Given the description of an element on the screen output the (x, y) to click on. 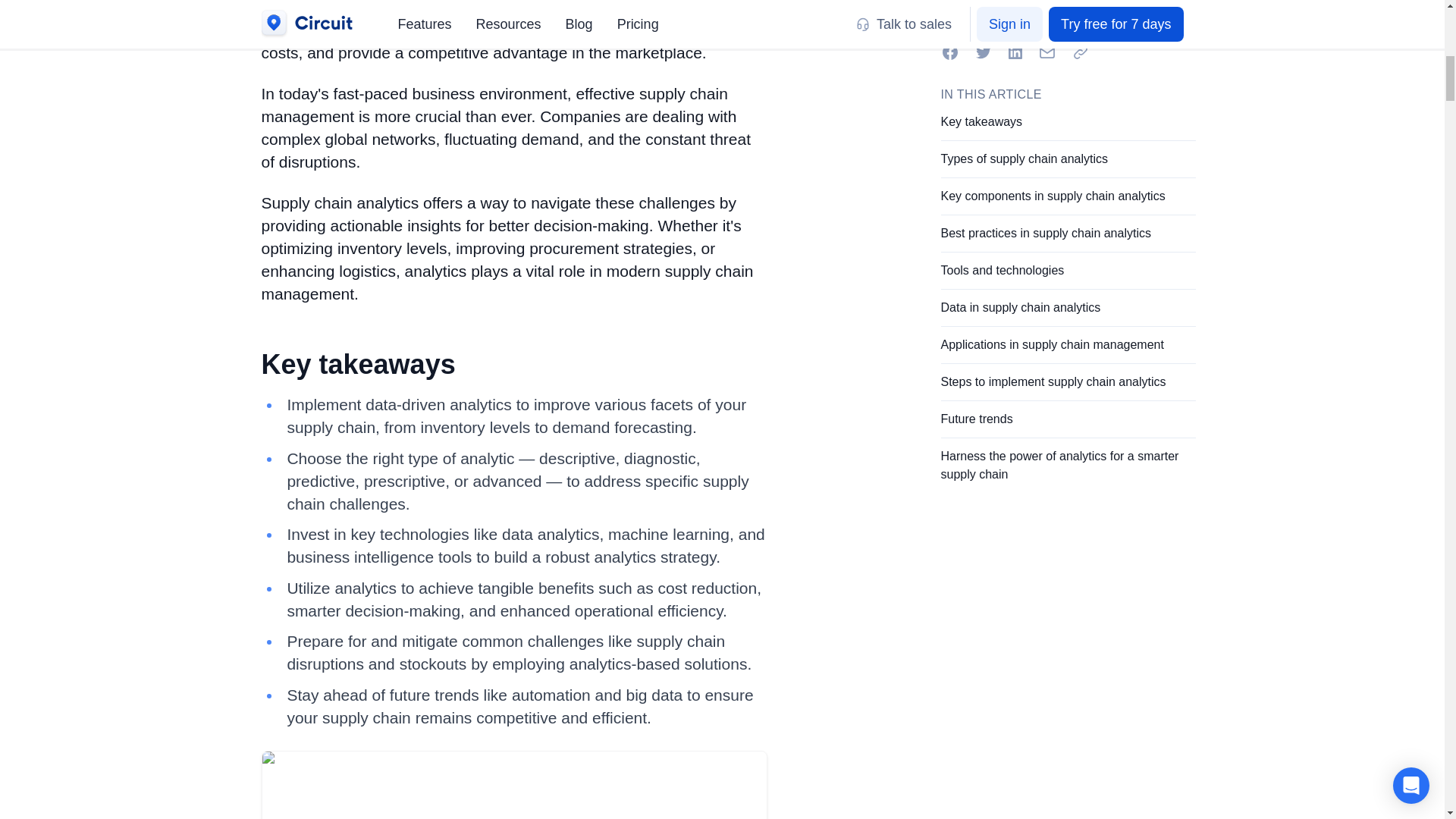
Share on Facebook (948, 51)
Facebook (948, 51)
Twitter (982, 51)
Click to copy (1079, 51)
Share on LinkedIn (1014, 52)
LinkedIn (1014, 52)
Share on Twitter (982, 51)
make the supply chain more efficient (559, 30)
Share on Email (1045, 51)
